Given the description of an element on the screen output the (x, y) to click on. 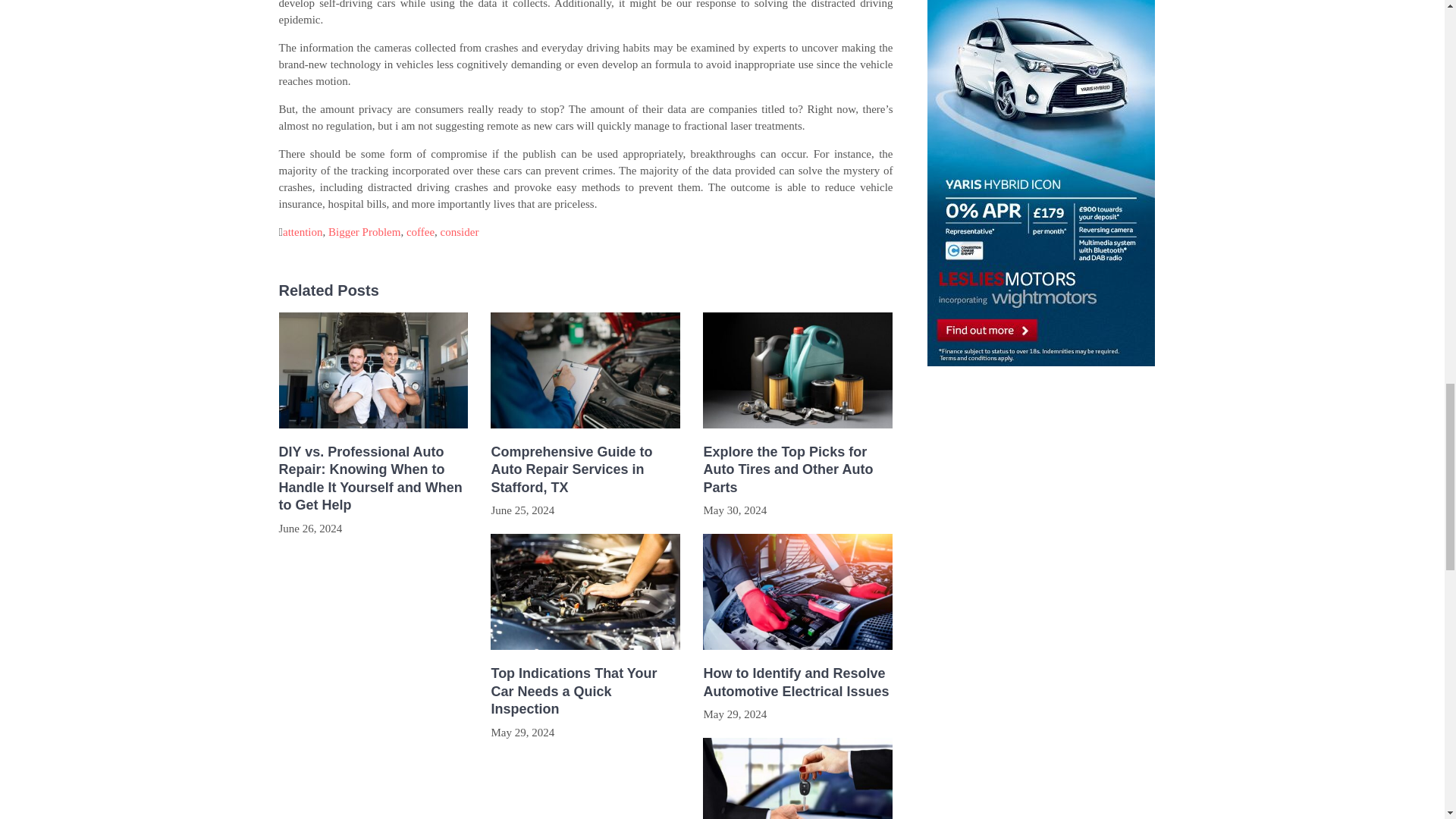
attention (302, 232)
Comprehensive Guide to Auto Repair Services in Stafford, TX (584, 469)
consider (460, 232)
Explore the Top Picks for Auto Tires and Other Auto Parts (797, 469)
Bigger Problem (364, 232)
Top Indications That Your Car Needs a Quick Inspection (584, 691)
How to Identify and Resolve Automotive Electrical Issues (797, 683)
coffee (419, 232)
